Given the description of an element on the screen output the (x, y) to click on. 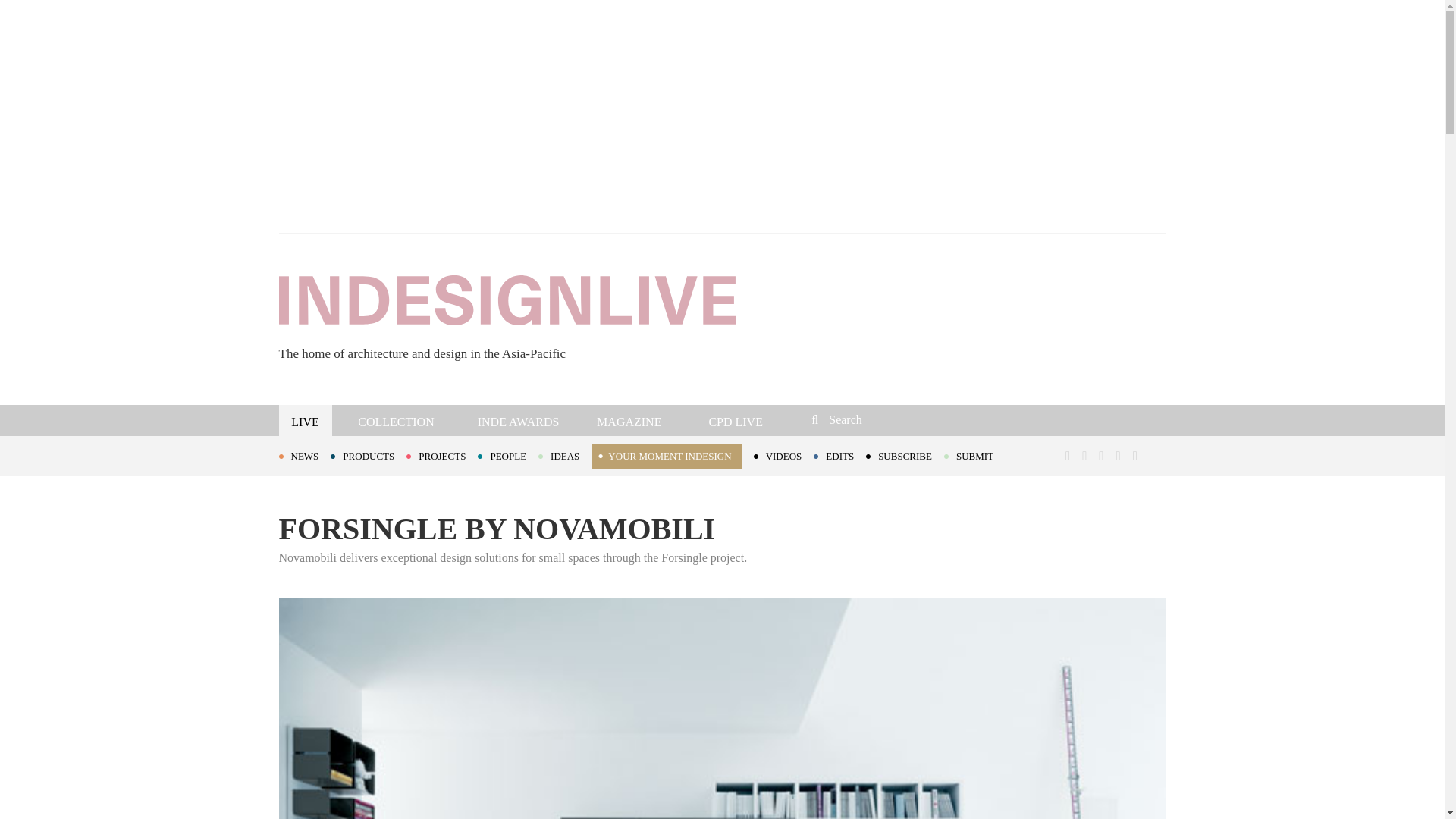
SUBMIT (974, 455)
IDEAS (564, 455)
YOUR MOMENT INDESIGN (666, 455)
SUBSCRIBE (904, 455)
PEOPLE (507, 455)
Search (913, 418)
PROJECTS (441, 455)
EDITS (839, 455)
VIDEOS (783, 455)
